Given the description of an element on the screen output the (x, y) to click on. 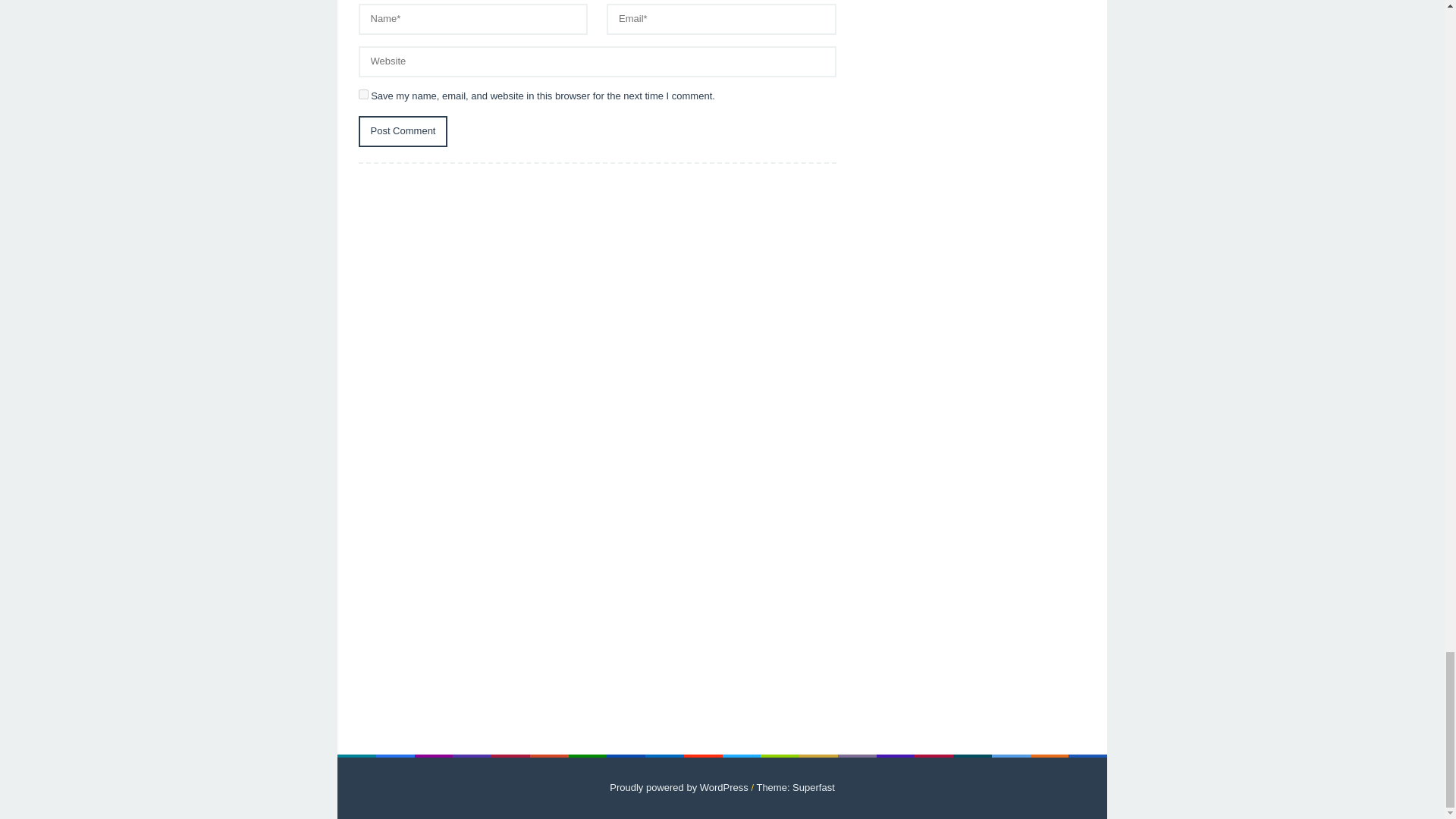
Proudly powered by WordPress (679, 787)
Post Comment (402, 131)
Theme: Superfast (794, 787)
yes (363, 94)
Post Comment (402, 131)
